Given the description of an element on the screen output the (x, y) to click on. 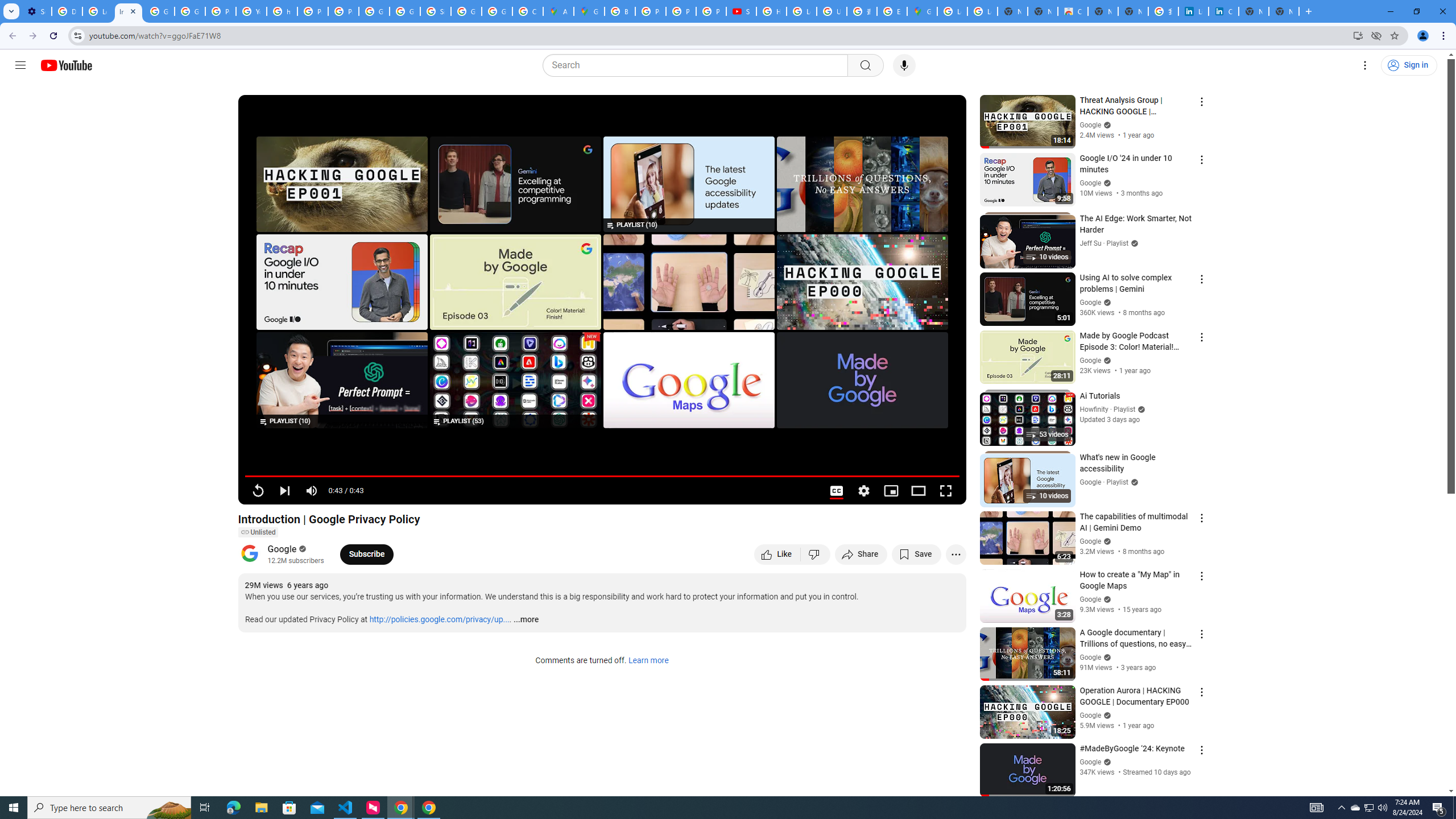
Chrome Web Store (1072, 11)
Unlisted (257, 532)
...more (525, 620)
Subscriptions - YouTube (740, 11)
Mute (m) (312, 490)
YouTube (251, 11)
Privacy Help Center - Policies Help (650, 11)
